Given the description of an element on the screen output the (x, y) to click on. 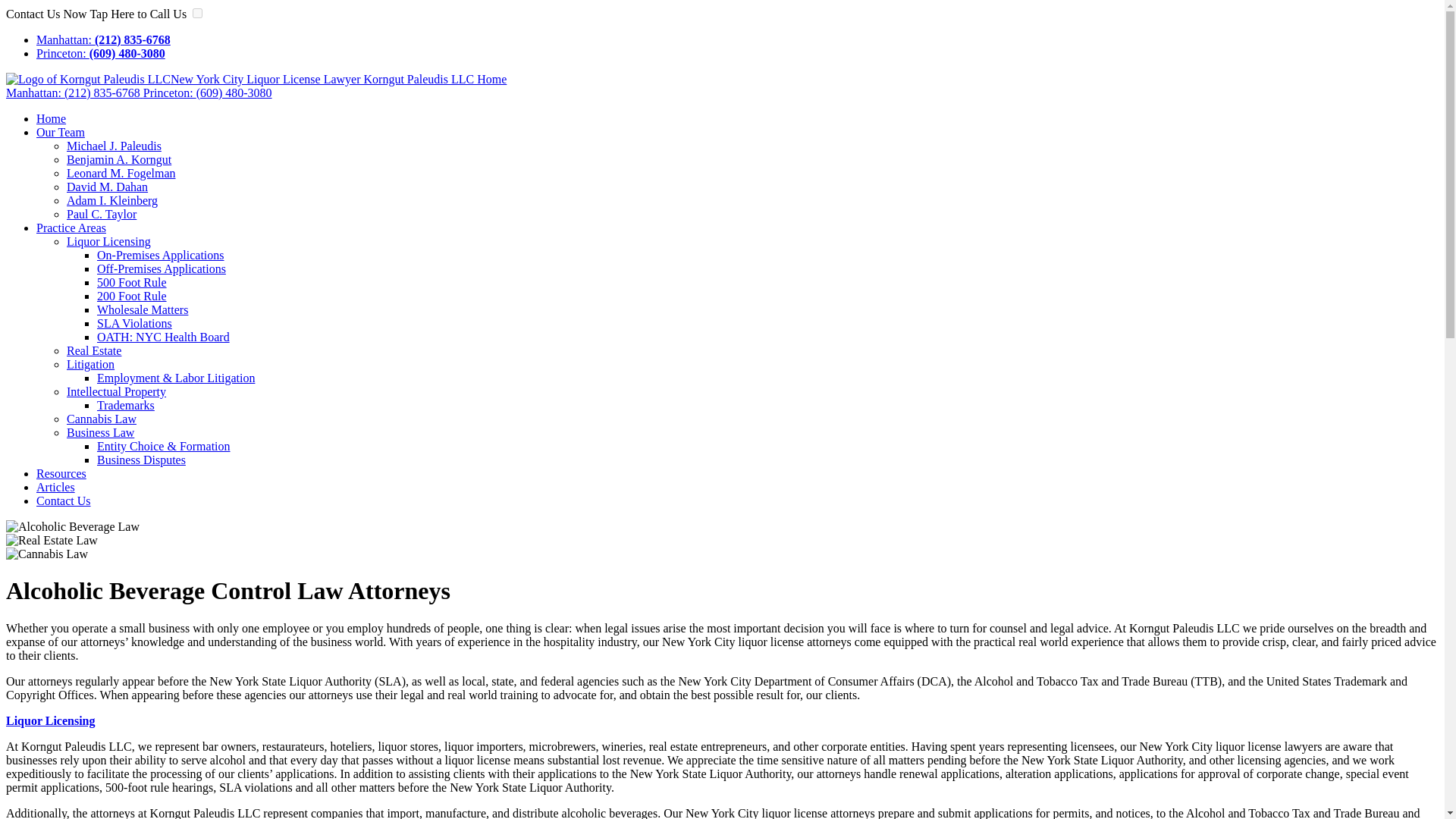
Tap Here to Call Us (138, 13)
Off-Premises Applications (161, 268)
Cannabis Law (101, 418)
Business Law (99, 431)
Leonard M. Fogelman (121, 173)
Trademarks (125, 404)
Contact Us (63, 500)
Real Estate (93, 350)
Business Disputes (141, 459)
500 Foot Rule (132, 282)
Articles (55, 486)
David M. Dahan (107, 186)
Wholesale Matters (142, 309)
Home (50, 118)
Litigation (90, 364)
